Given the description of an element on the screen output the (x, y) to click on. 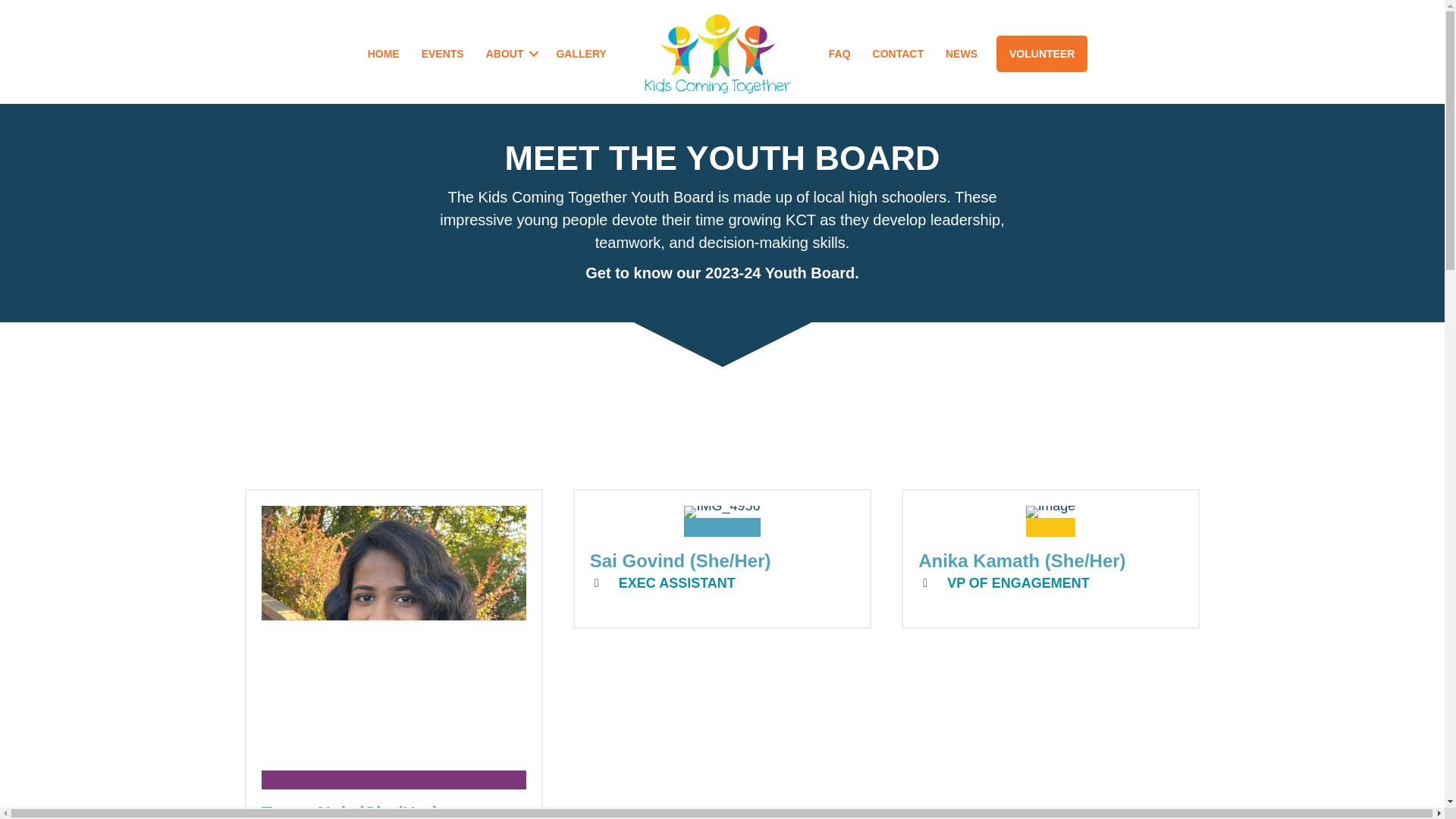
VOLUNTEER (1041, 54)
image (1050, 521)
NEWS (961, 53)
CONTACT (897, 53)
HOME (383, 53)
EVENTS (442, 53)
ABOUT (510, 53)
GALLERY (579, 53)
FAQ (839, 53)
